Given the description of an element on the screen output the (x, y) to click on. 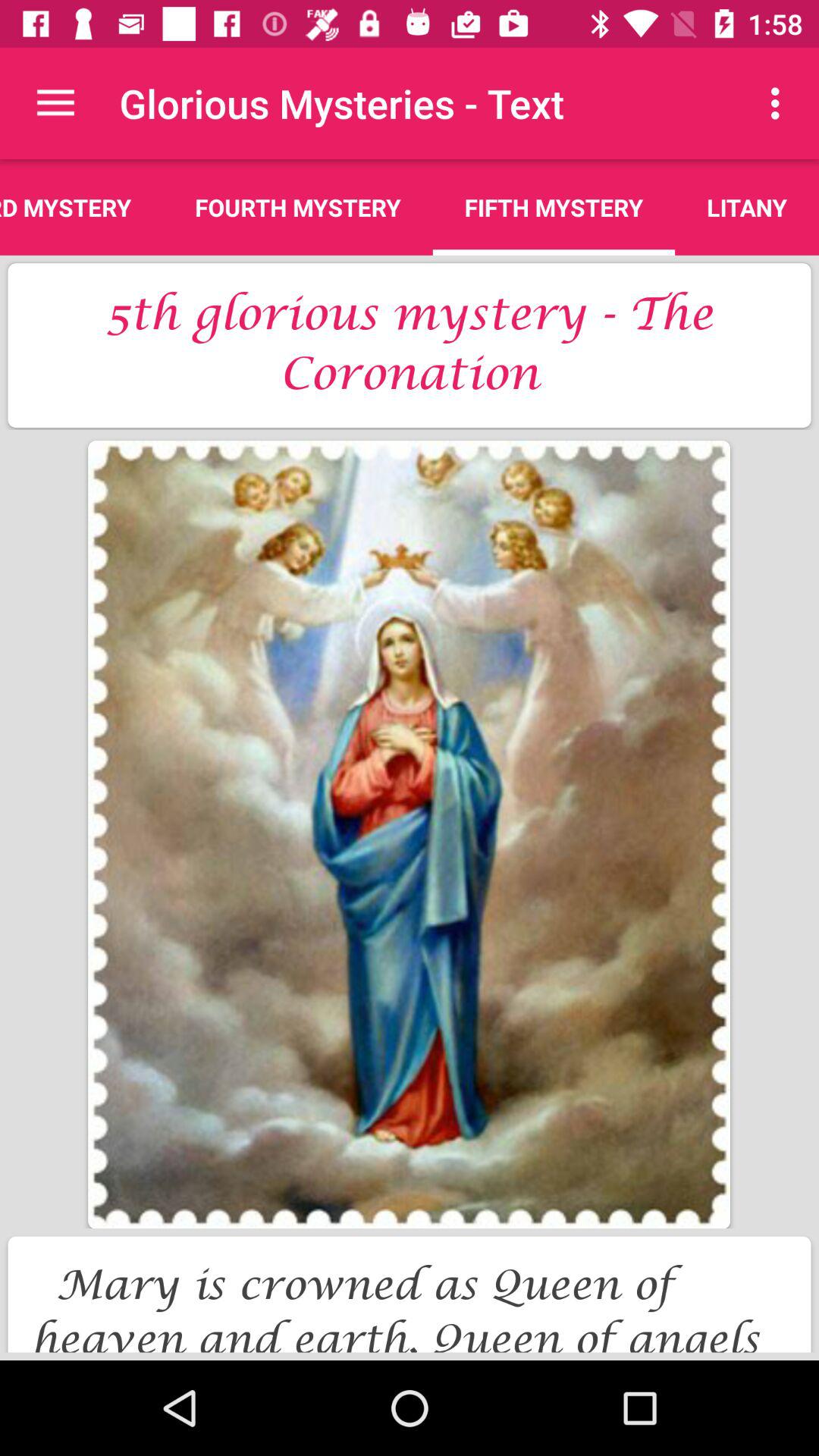
choose icon above 5th glorious mystery item (81, 207)
